Given the description of an element on the screen output the (x, y) to click on. 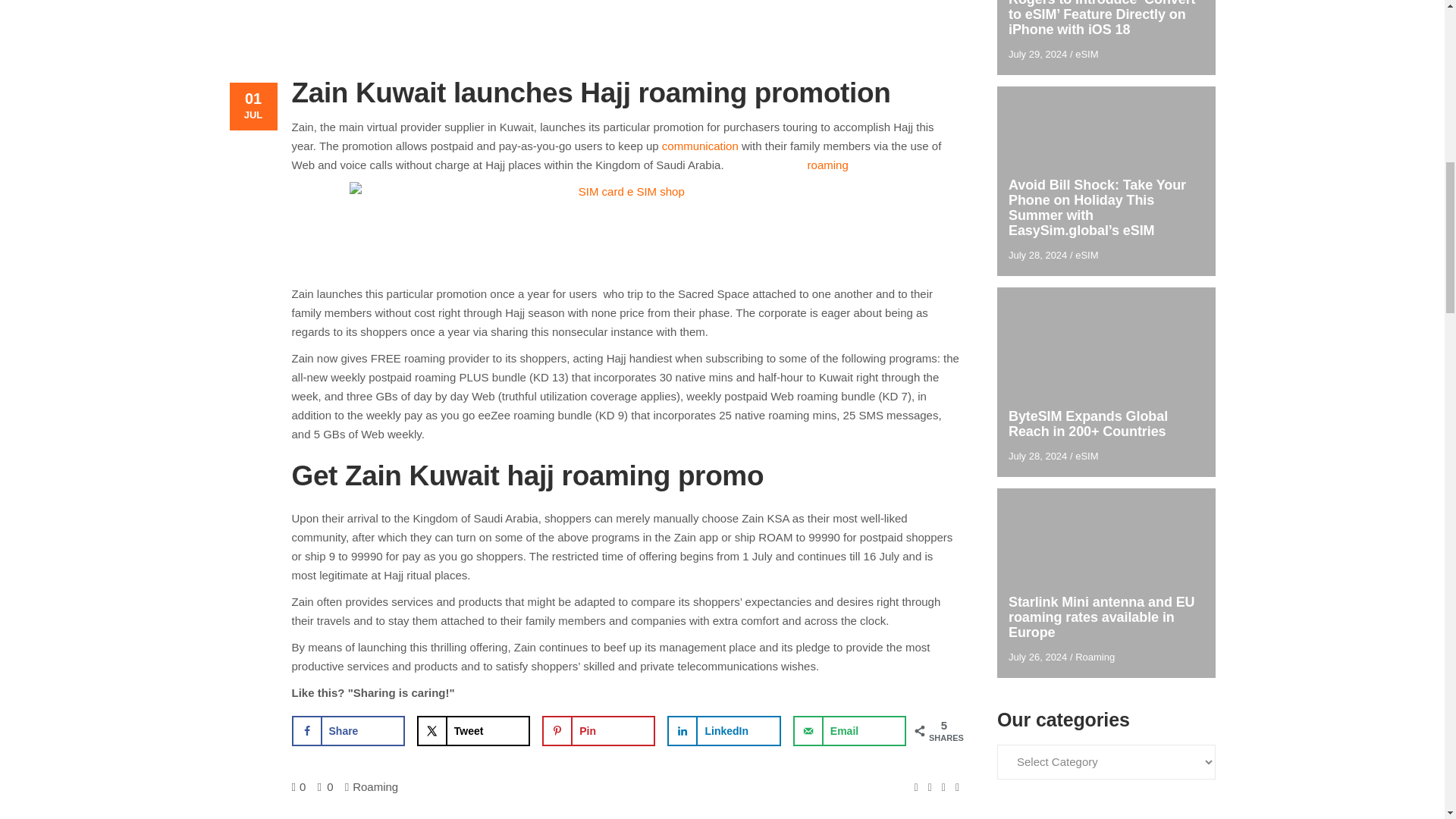
Share on LinkedIn (723, 730)
roaming (828, 164)
Like this (298, 786)
Share on Facebook (347, 730)
Save to Pinterest (598, 730)
Send over email (849, 730)
Share on X (472, 730)
